Given the description of an element on the screen output the (x, y) to click on. 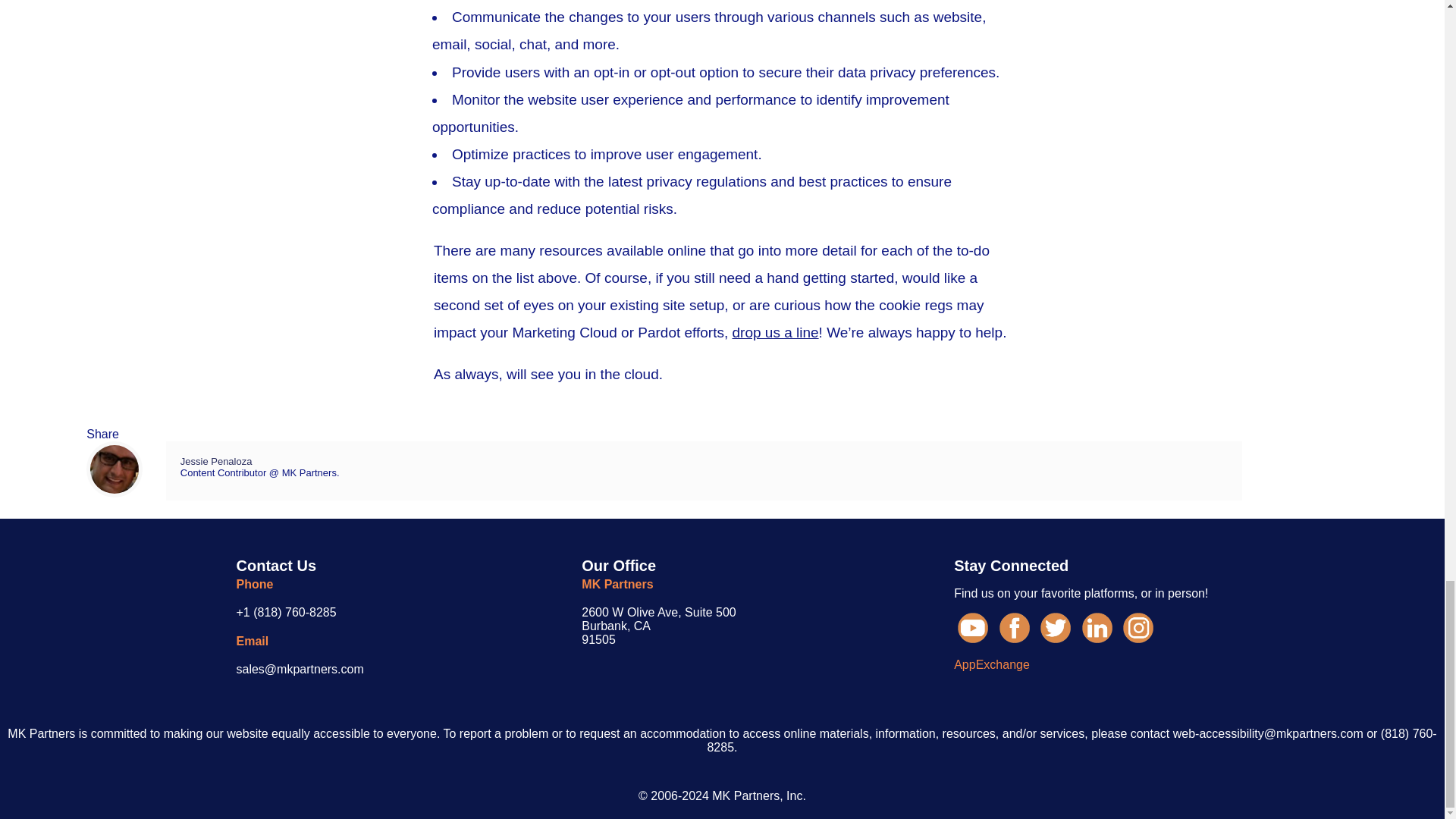
Jessie Penaloza (267, 469)
drop us a line (775, 340)
AppExchange (837, 644)
